Given the description of an element on the screen output the (x, y) to click on. 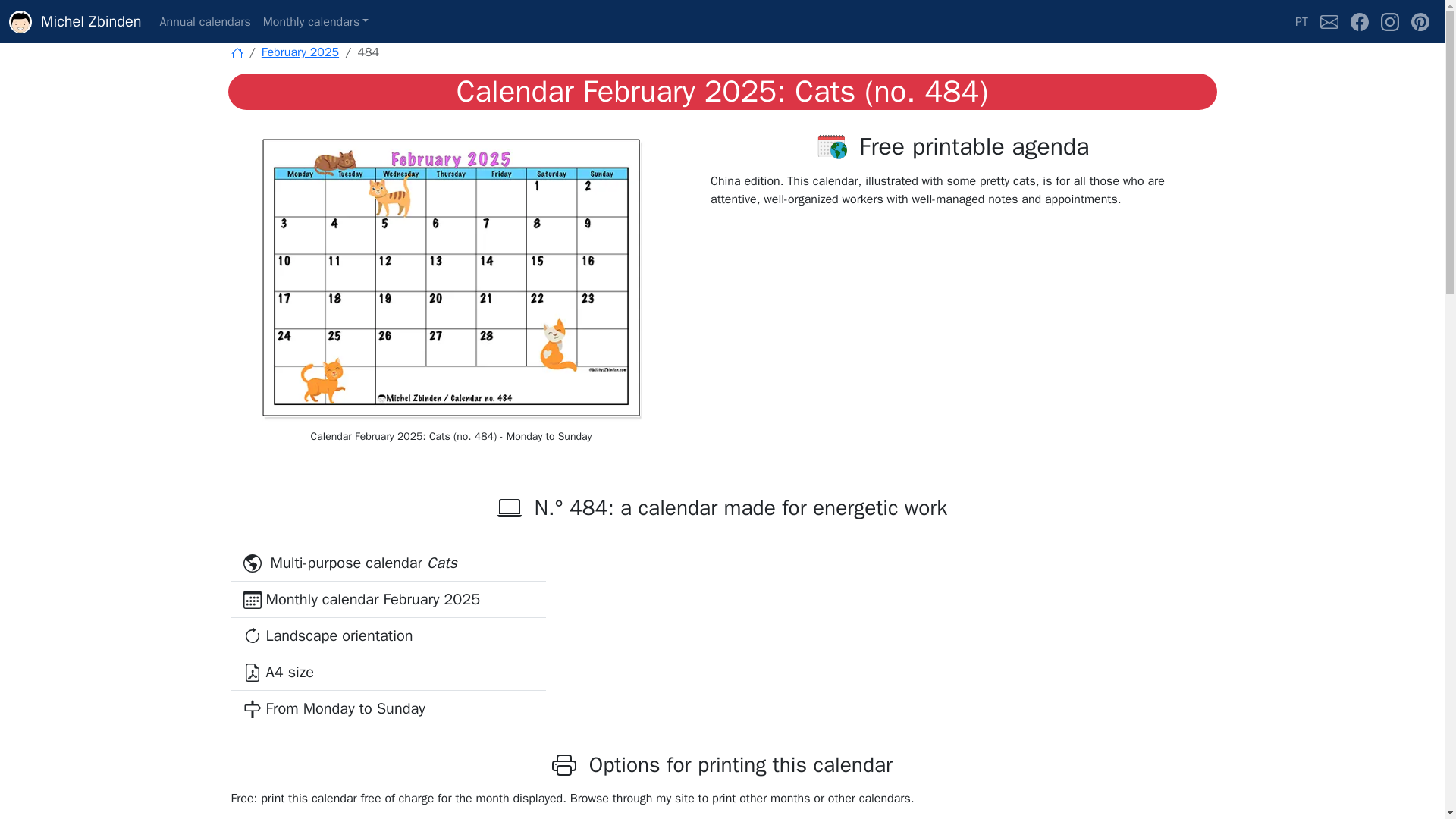
Michel Zbinden EN (236, 52)
February 2025 (300, 52)
Pinterest (1420, 20)
Facebook (1358, 20)
  Michel Zbinden (74, 20)
Annual calendars (205, 20)
Monthly calendars (316, 20)
PT (1301, 20)
Instagram (1389, 20)
Email (1328, 20)
